Given the description of an element on the screen output the (x, y) to click on. 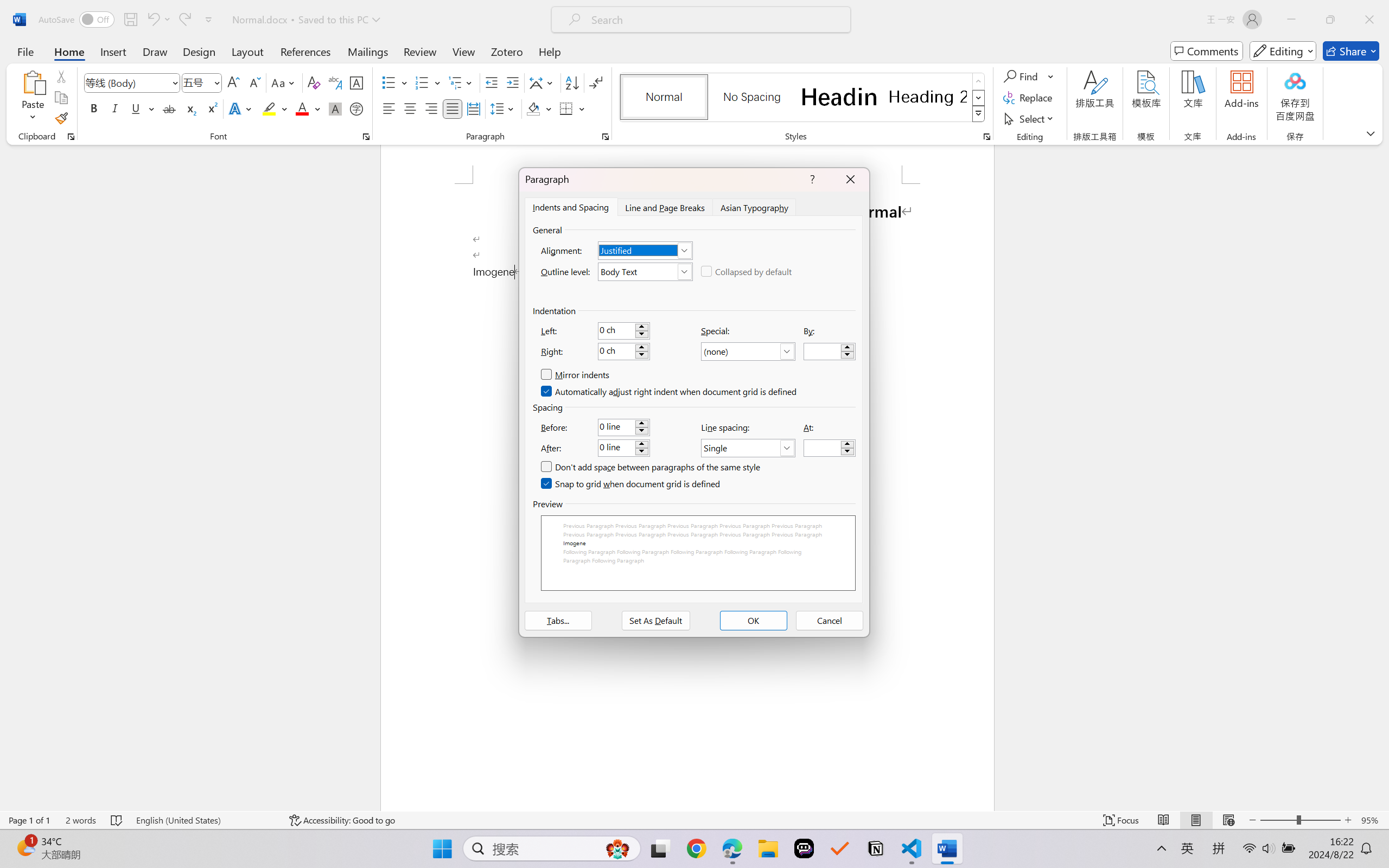
Styles (978, 113)
Select (1030, 118)
Asian Layout (542, 82)
Superscript (210, 108)
Paragraph... (605, 136)
By: (829, 351)
Poe (804, 848)
Set As Default (655, 620)
Justify (452, 108)
